Given the description of an element on the screen output the (x, y) to click on. 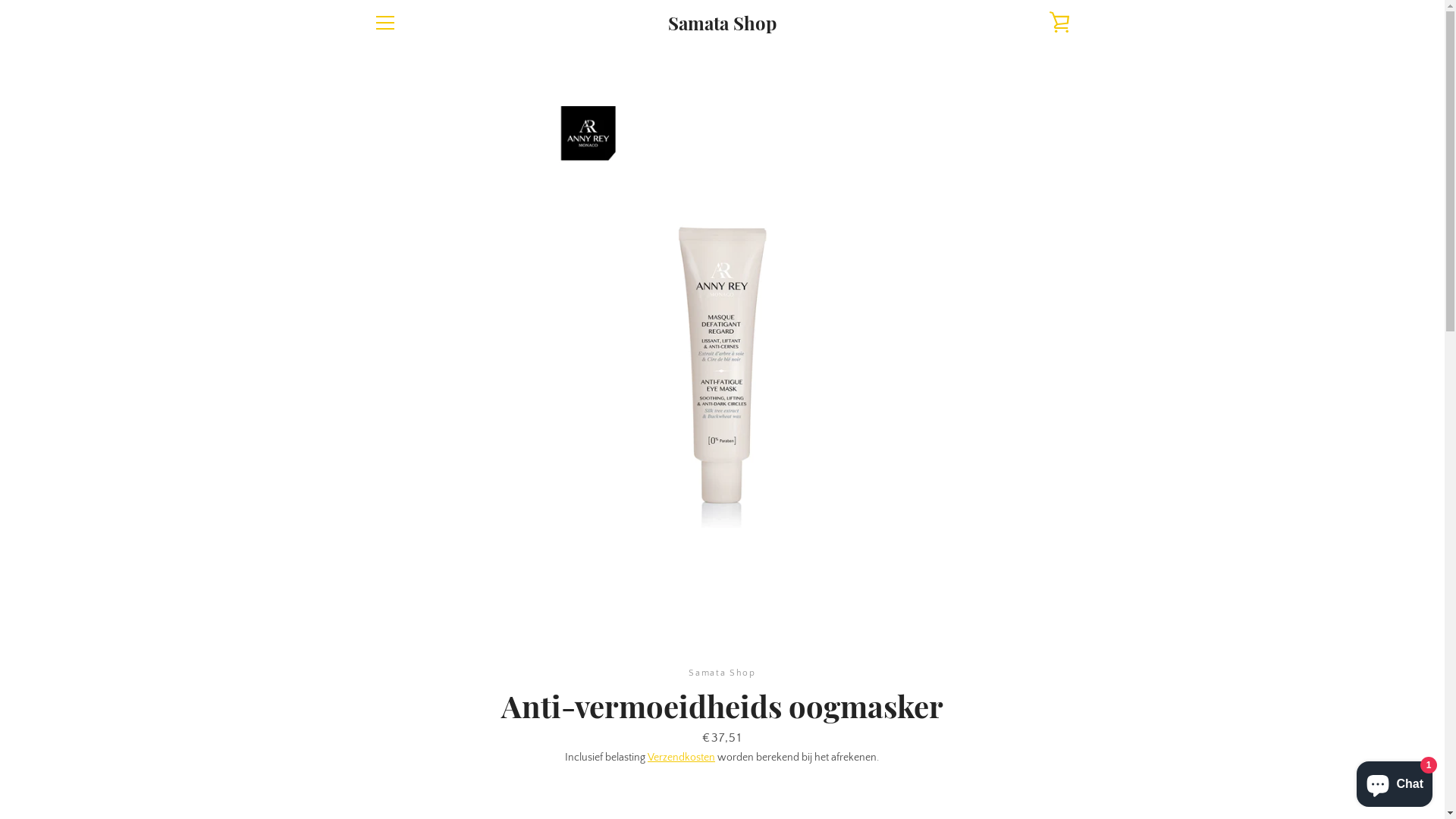
ABONNEREN Element type: text (1031, 677)
NORVIA Element type: text (392, 652)
Samata Shop Element type: text (745, 756)
Meteen naar de content Element type: text (0, 0)
SAMATA NEUZEKES Element type: text (418, 675)
Verzendkosten Element type: text (681, 757)
MENU Element type: text (384, 22)
SAMATA Element type: text (392, 630)
Onlinewinkel-chat van Shopify Element type: hover (1394, 780)
Samata Shop Element type: text (722, 23)
WINKELWAGEN BEKIJKEN Element type: text (1059, 22)
PROMOTIES Element type: text (400, 608)
